Given the description of an element on the screen output the (x, y) to click on. 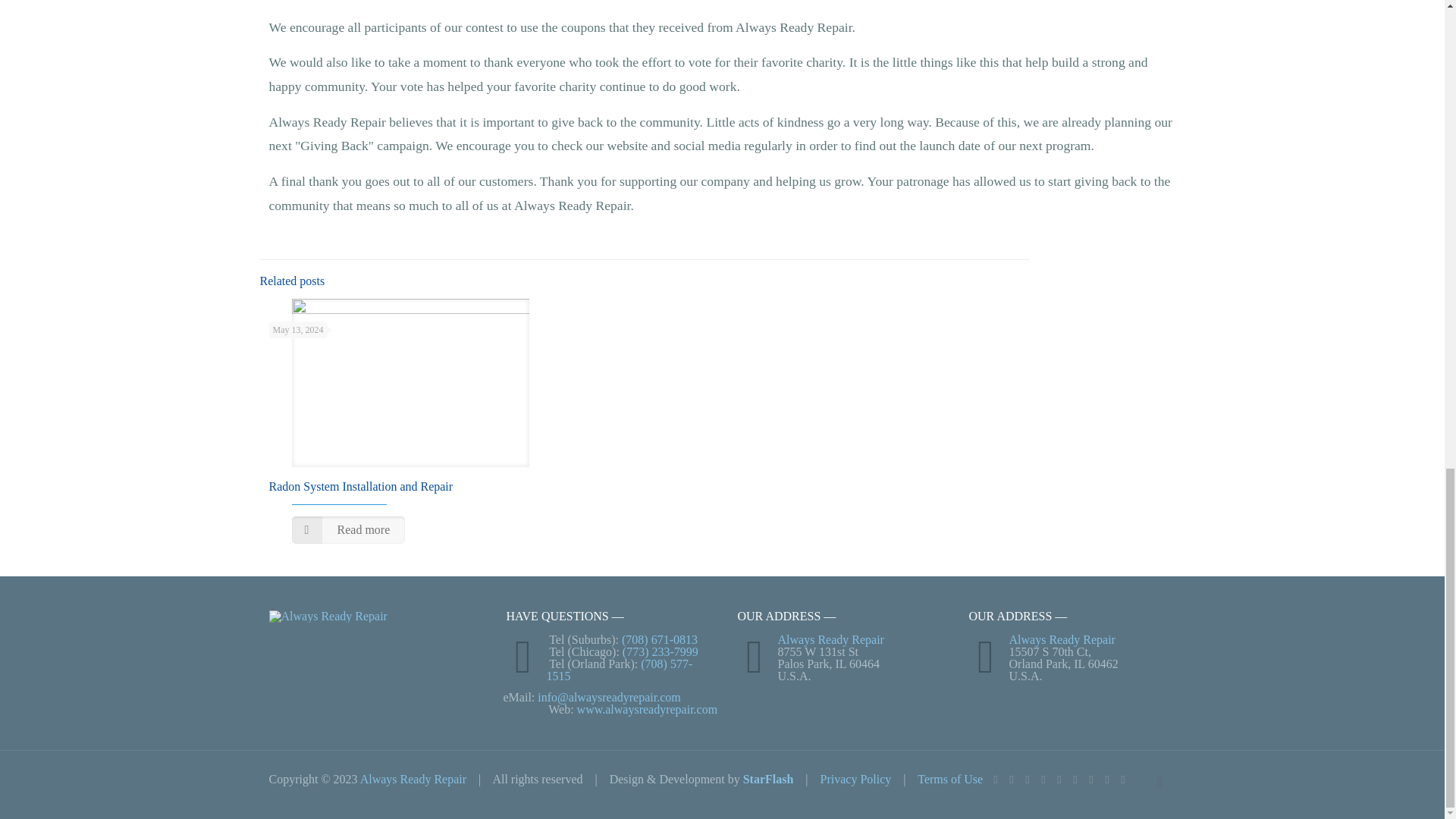
Facebook (1011, 779)
LinkedIn (1059, 779)
Skype (995, 779)
Email (1123, 779)
Instagram (1091, 779)
YouTube (1042, 779)
Tumblr (1106, 779)
Pinterest (1074, 779)
